Given the description of an element on the screen output the (x, y) to click on. 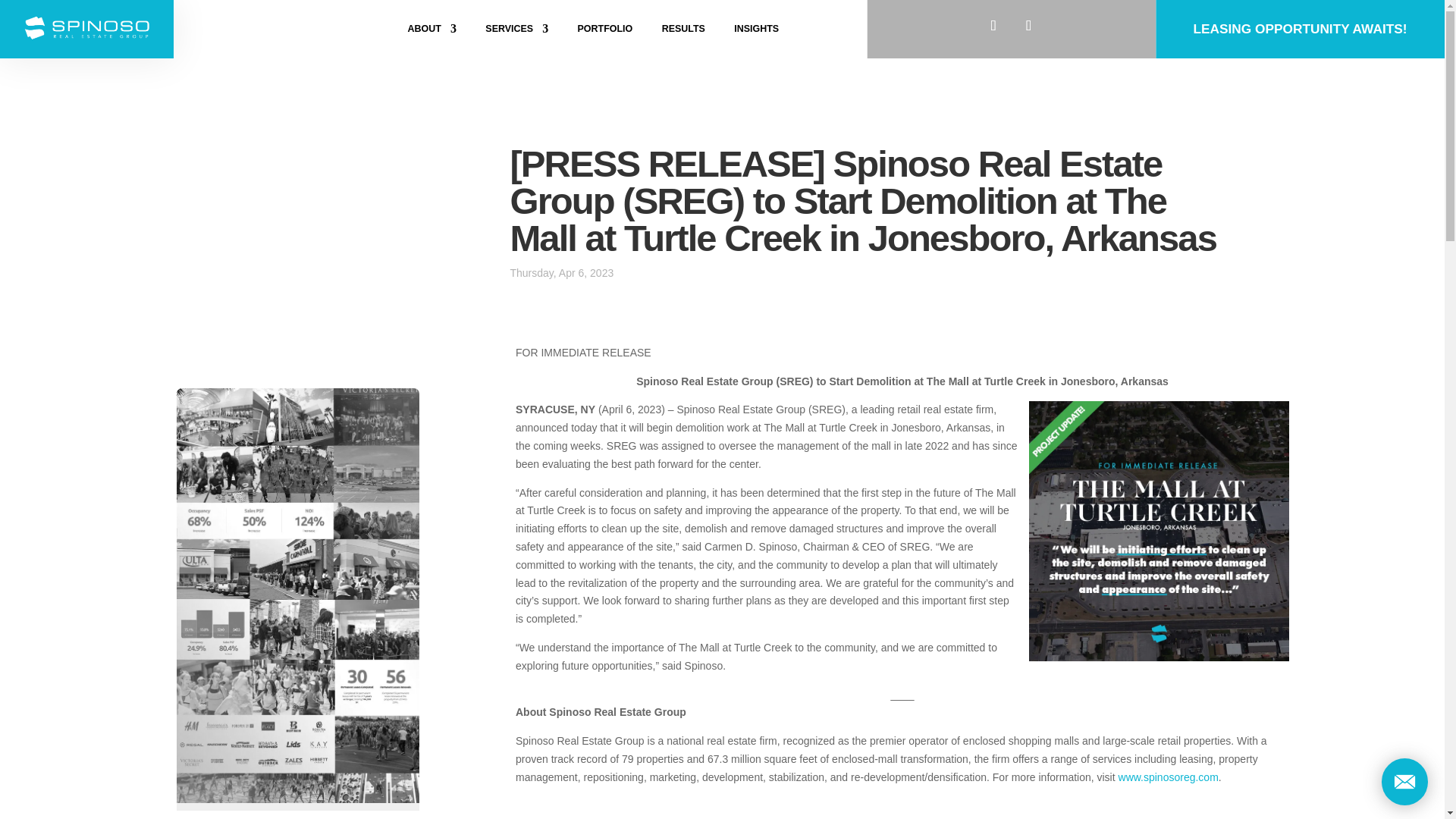
Follow on Instagram (1028, 25)
Follow on LinkedIn (992, 25)
INSIGHTS (755, 31)
RESULTS (683, 31)
SERVICES (516, 31)
ABOUT (432, 31)
PORTFOLIO (605, 31)
